Given the description of an element on the screen output the (x, y) to click on. 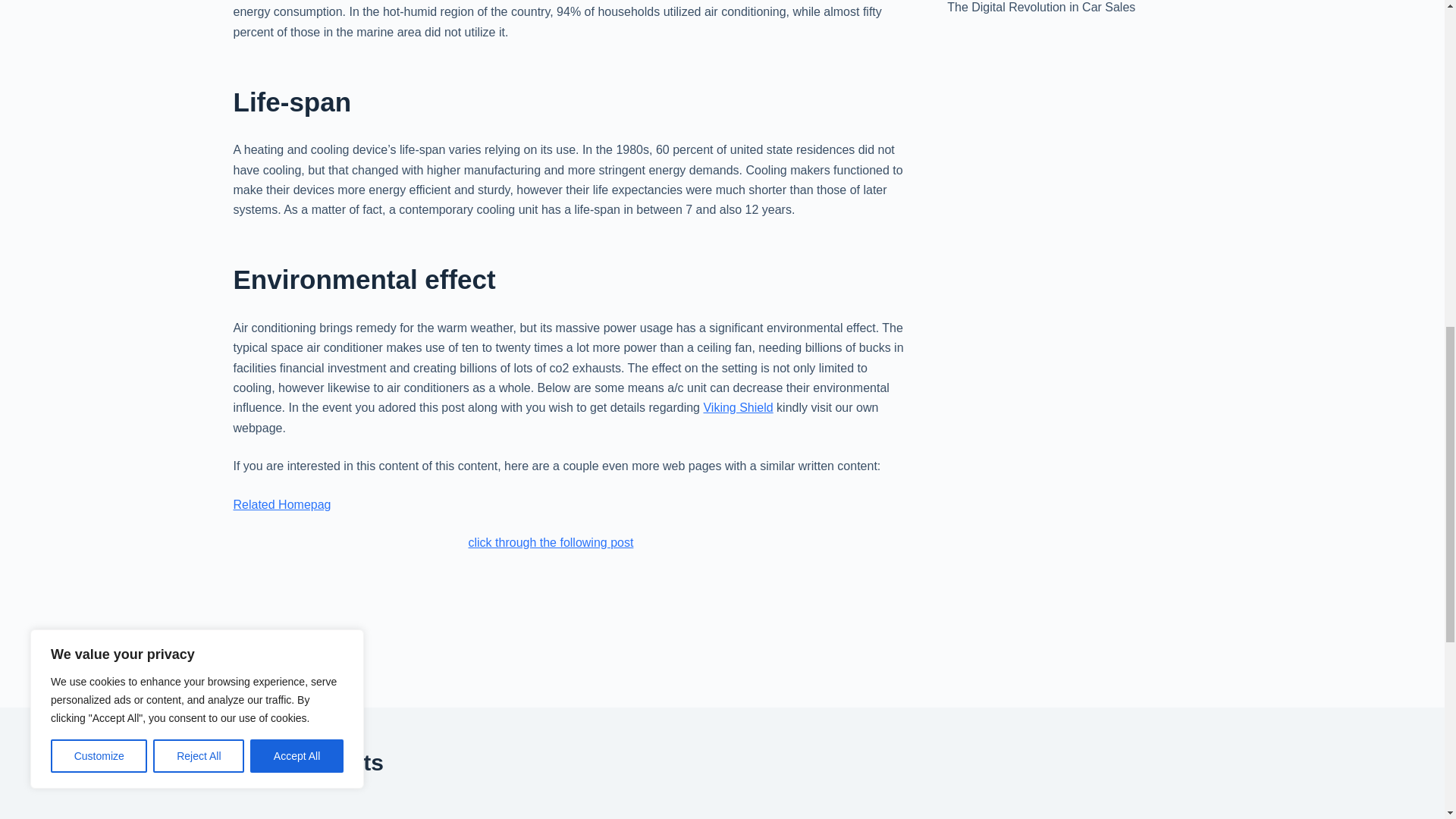
Viking Shield (738, 407)
Related Homepag (281, 504)
click through the following post (550, 542)
